Given the description of an element on the screen output the (x, y) to click on. 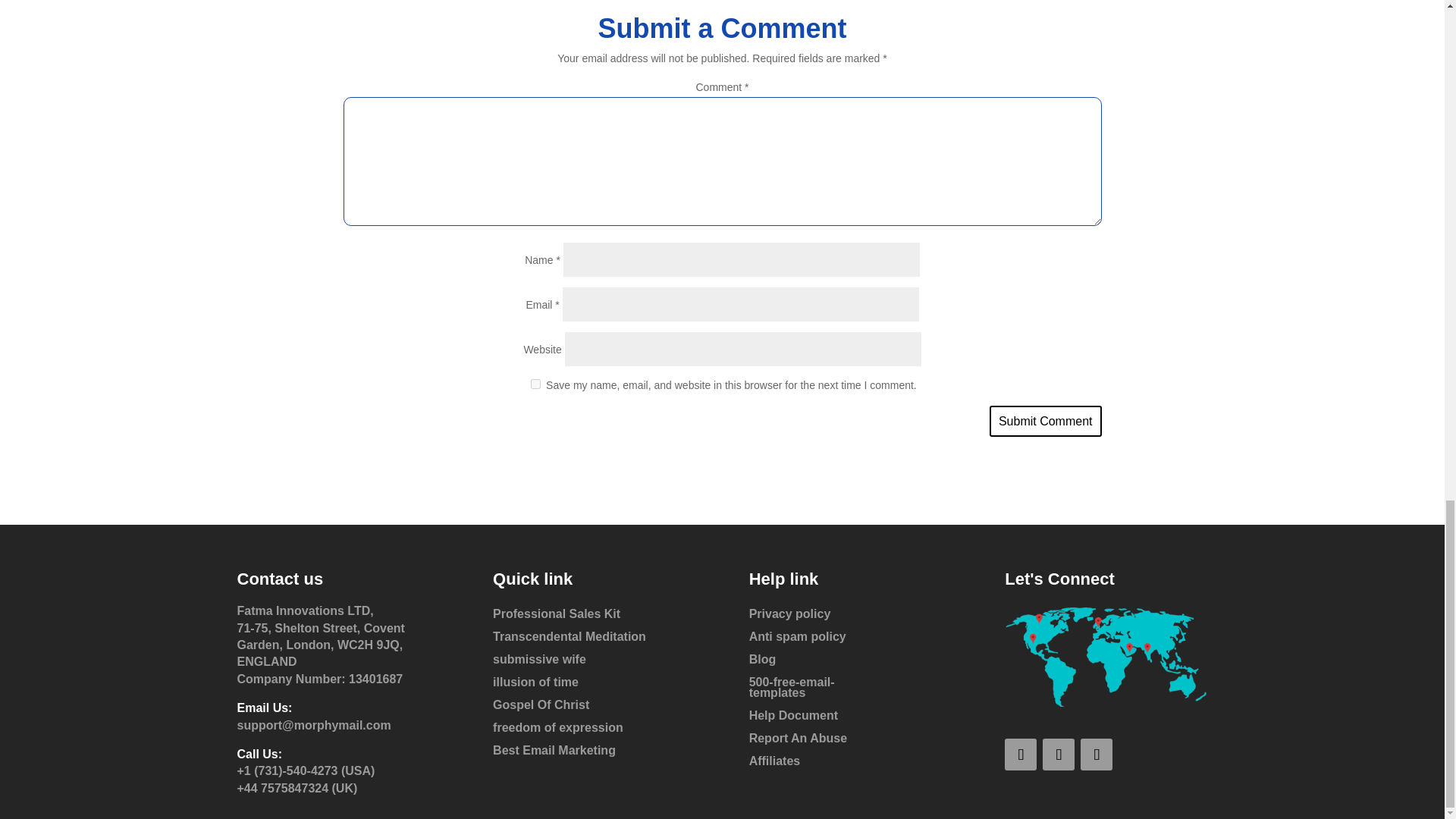
Submit Comment (1046, 420)
Follow on Facebook (1020, 754)
Follow on Instagram (1096, 754)
Submit Comment (1046, 420)
Follow on Twitter (1058, 754)
yes (535, 384)
